Given the description of an element on the screen output the (x, y) to click on. 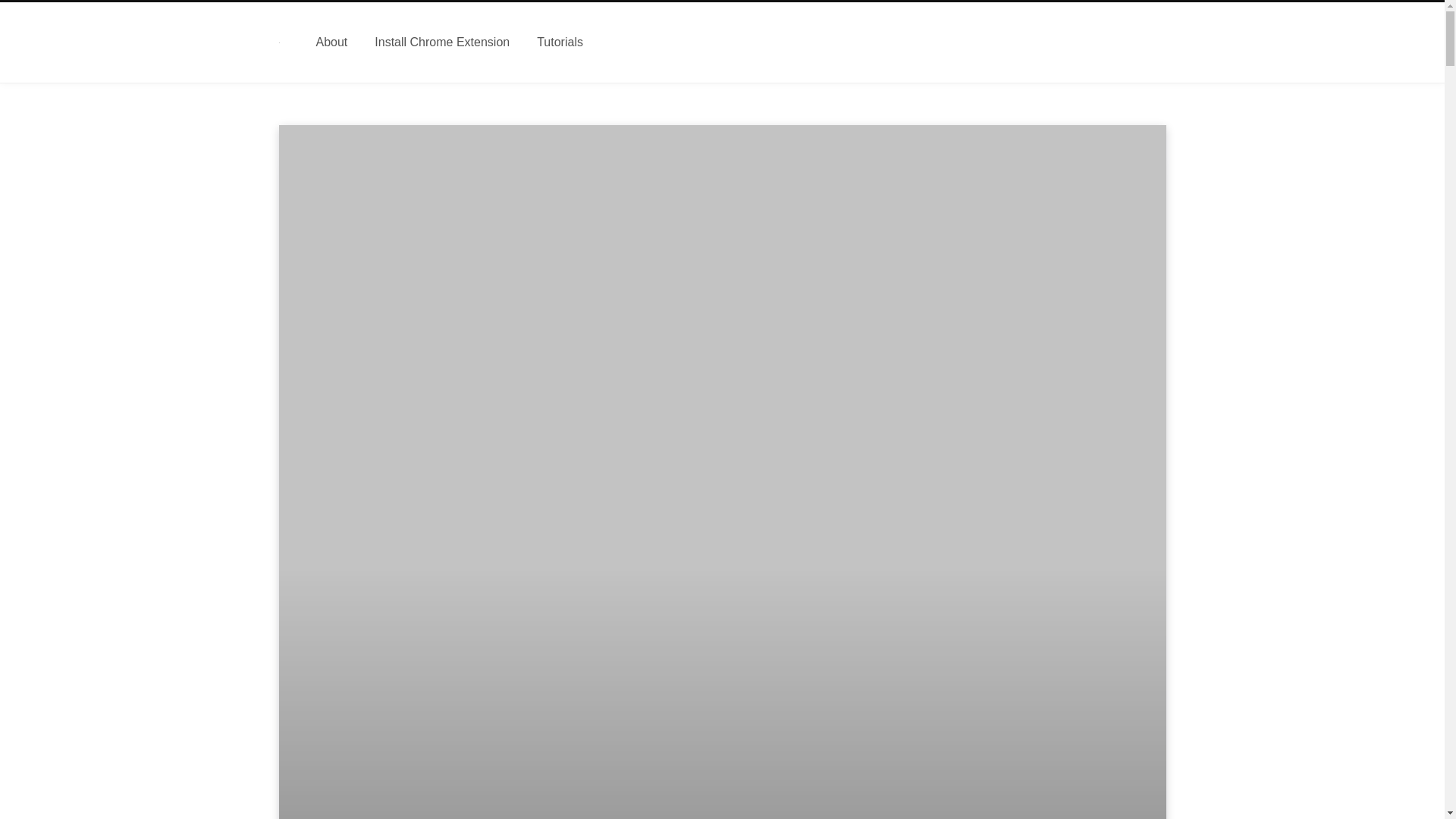
About (331, 41)
Tutorials (559, 41)
Install Chrome Extension (441, 41)
